Given the description of an element on the screen output the (x, y) to click on. 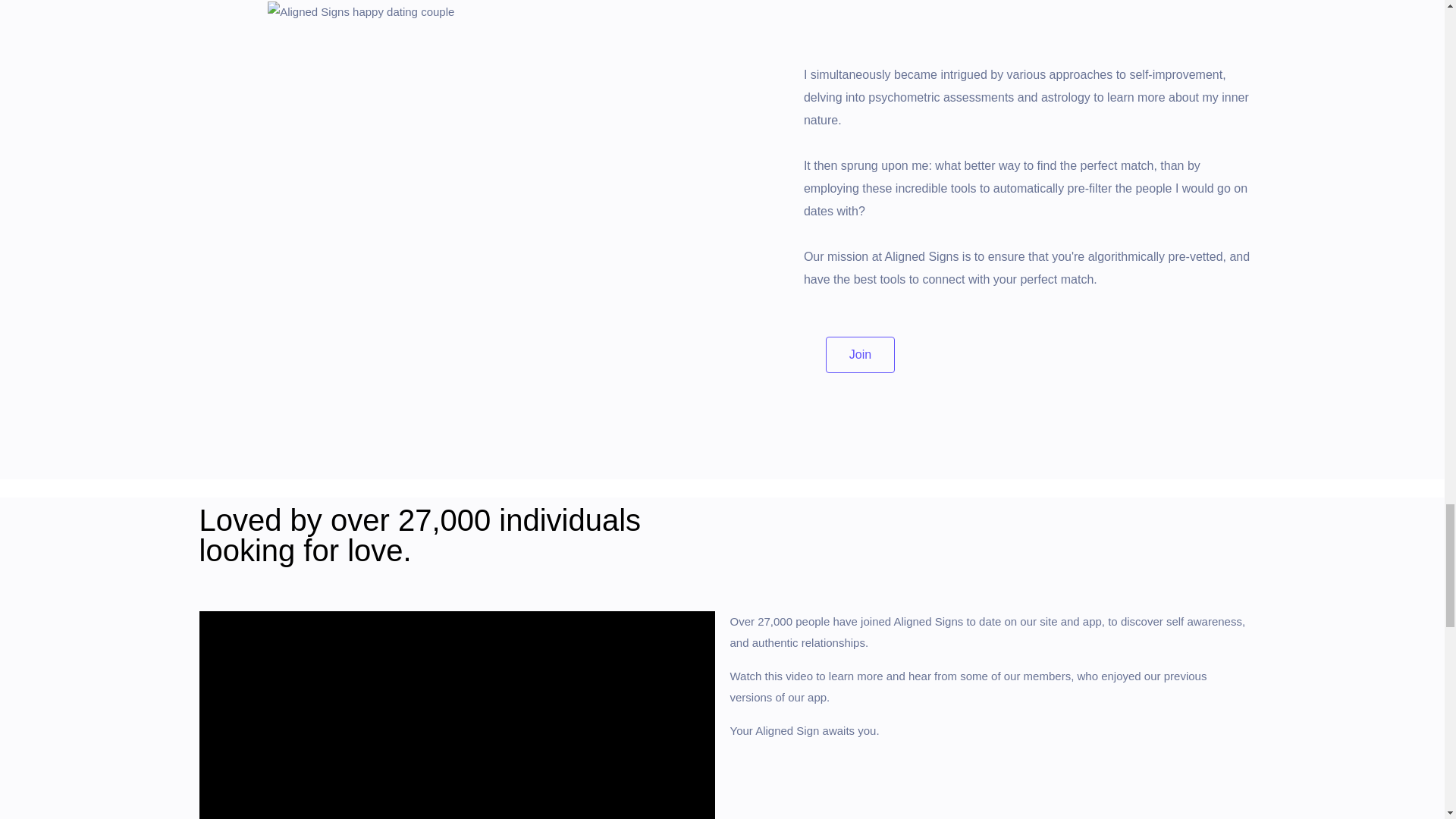
youtube Video Player (456, 714)
Join (860, 354)
Aligned Signs happy dating couple (360, 11)
